Given the description of an element on the screen output the (x, y) to click on. 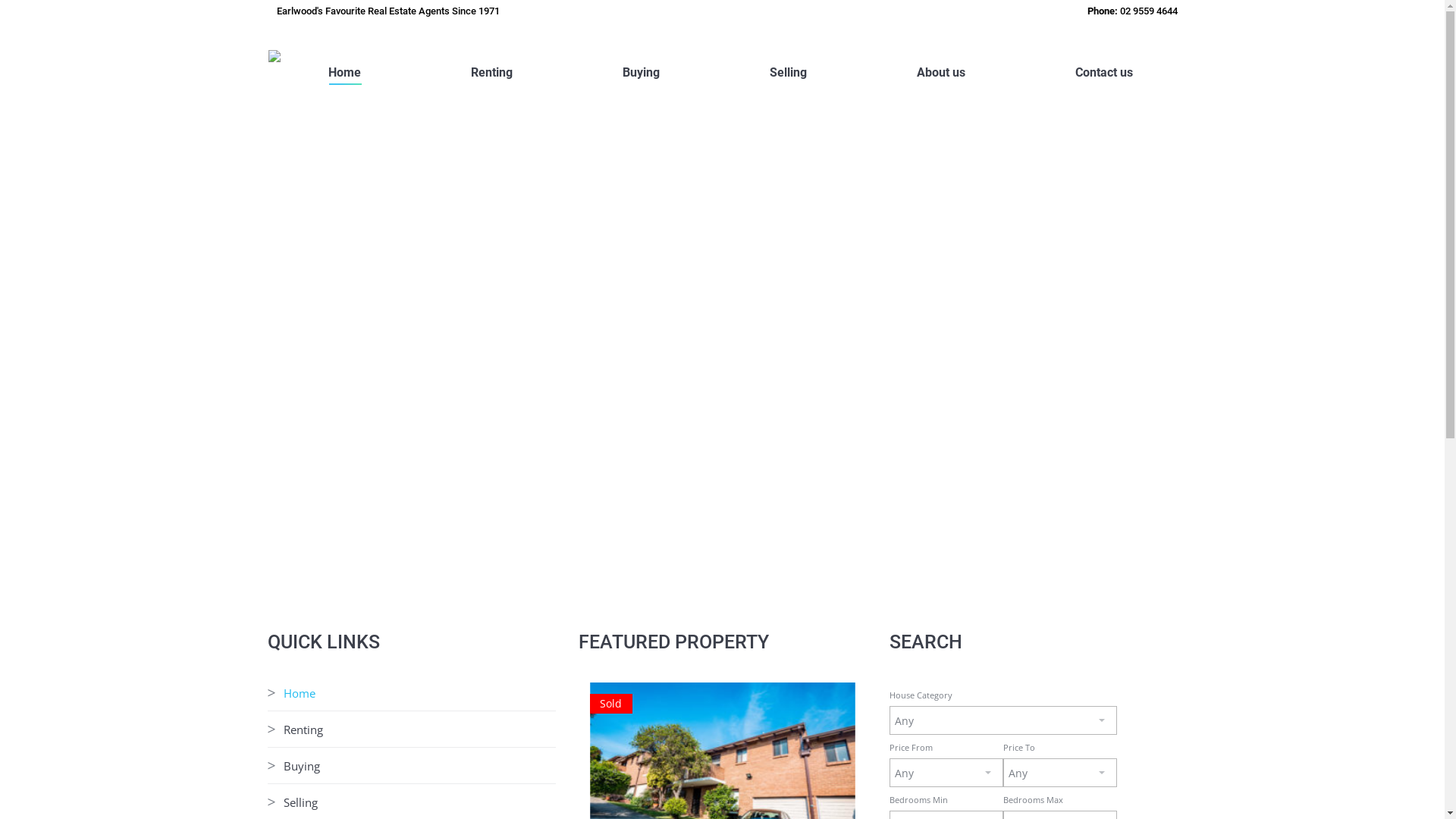
Selling Element type: text (306, 801)
Home Element type: text (304, 692)
02 9559 4644 Element type: text (1147, 10)
Selling Element type: text (787, 69)
Renting Element type: text (308, 729)
Contact us Element type: text (1104, 69)
Buying Element type: text (307, 765)
Renting Element type: text (491, 69)
Buying Element type: text (640, 69)
About us Element type: text (940, 69)
Home Element type: text (343, 69)
